Given the description of an element on the screen output the (x, y) to click on. 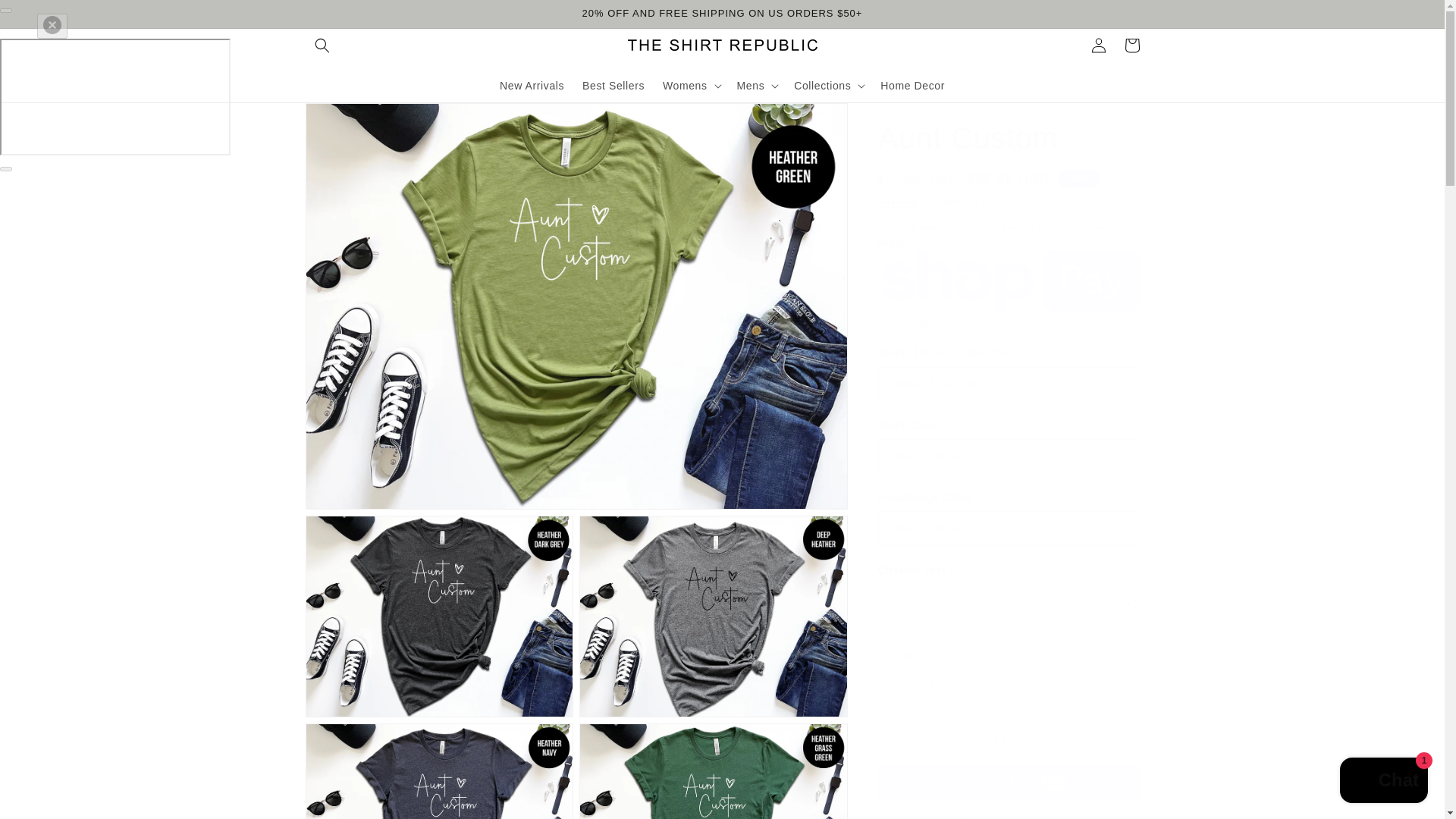
Skip to content (45, 17)
Open media 2 in modal (438, 616)
1 (931, 684)
Open media 5 in modal (713, 771)
Open media 4 in modal (438, 771)
Open media 3 in modal (713, 616)
Shopify online store chat (1383, 781)
